Given the description of an element on the screen output the (x, y) to click on. 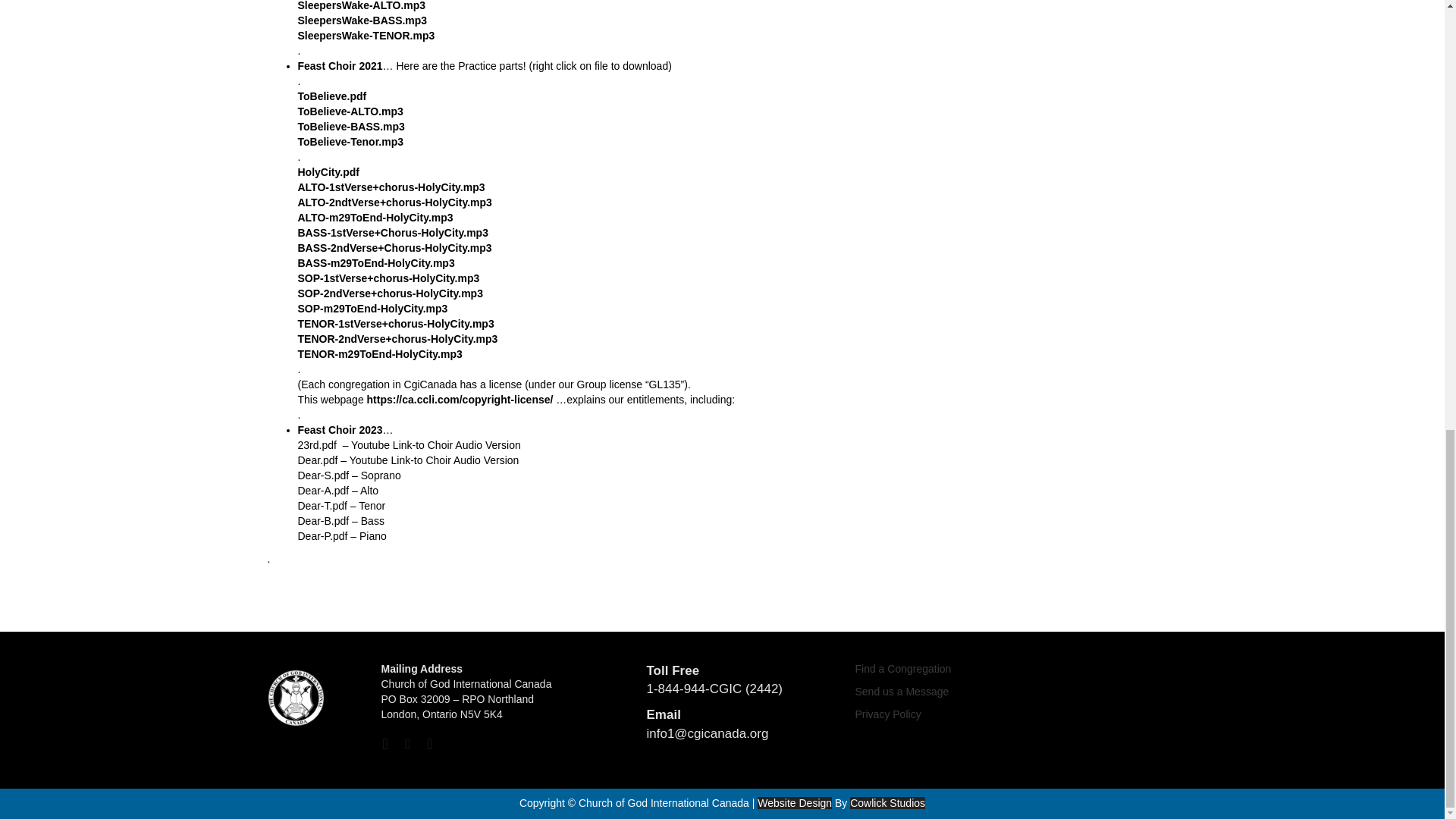
ALTO-m29ToEnd-HolyCity.mp3 (374, 217)
SleepersWake-BASS.mp3 (361, 20)
23rd.pdf (316, 444)
TENOR-m29ToEnd-HolyCity.mp3 (379, 354)
SleepersWake-TENOR.mp3 (365, 35)
SOP-m29ToEnd-HolyCity.mp3 (371, 308)
BASS-m29ToEnd-HolyCity.mp3 (375, 263)
Youtube Link-to Choir Audio Version (435, 444)
ToBelieve-BASS.mp3 (350, 126)
SleepersWake-ALTO.mp3 (361, 5)
ToBelieve-Tenor.mp3 (350, 141)
ToBelieve-ALTO.mp3 (350, 111)
HolyCity.pdf (327, 172)
ToBelieve.pdf (331, 96)
Dear.pdf (317, 460)
